Given the description of an element on the screen output the (x, y) to click on. 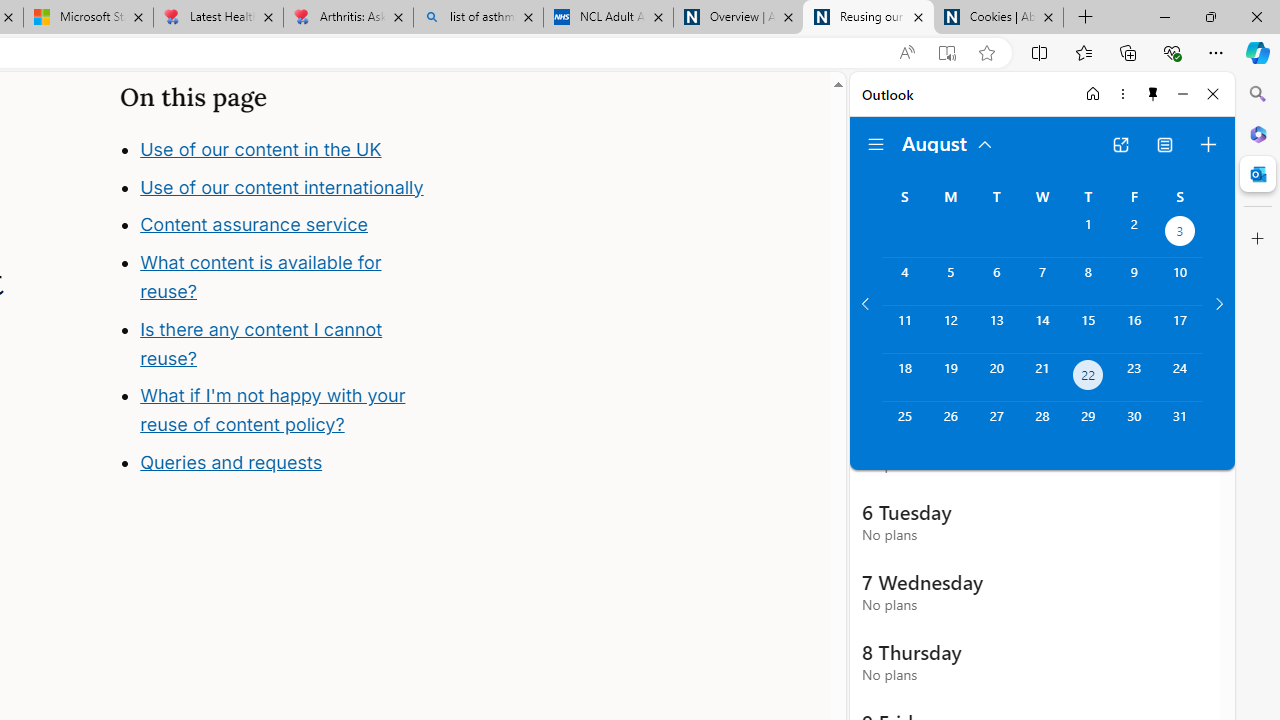
list of asthma inhalers uk - Search (477, 17)
Tuesday, August 20, 2024.  (996, 377)
Close Customize pane (1258, 239)
Wednesday, August 21, 2024.  (1042, 377)
Thursday, August 8, 2024.  (1088, 281)
What if I'm not happy with your reuse of content policy? (272, 410)
